Given the description of an element on the screen output the (x, y) to click on. 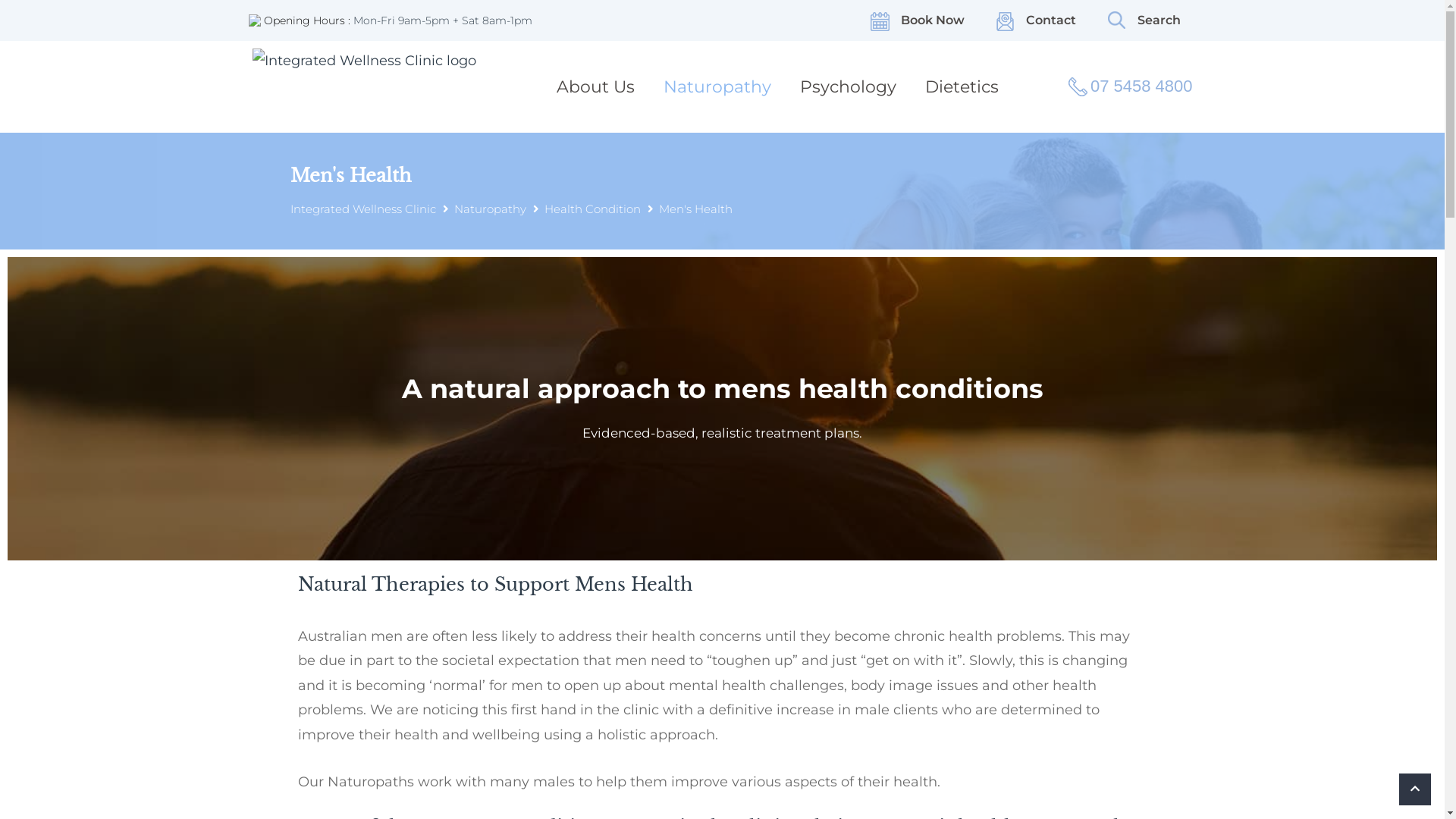
Health Condition Element type: text (592, 208)
Psychology Element type: text (847, 86)
Integrated Wellness Clinic Element type: text (362, 208)
Naturopathy Element type: text (489, 208)
Contact Element type: text (1035, 20)
Dietetics Element type: text (961, 86)
Search Element type: text (1143, 20)
Book Now Element type: text (916, 20)
About Us Element type: text (595, 86)
Naturopathy Element type: text (716, 86)
